Given the description of an element on the screen output the (x, y) to click on. 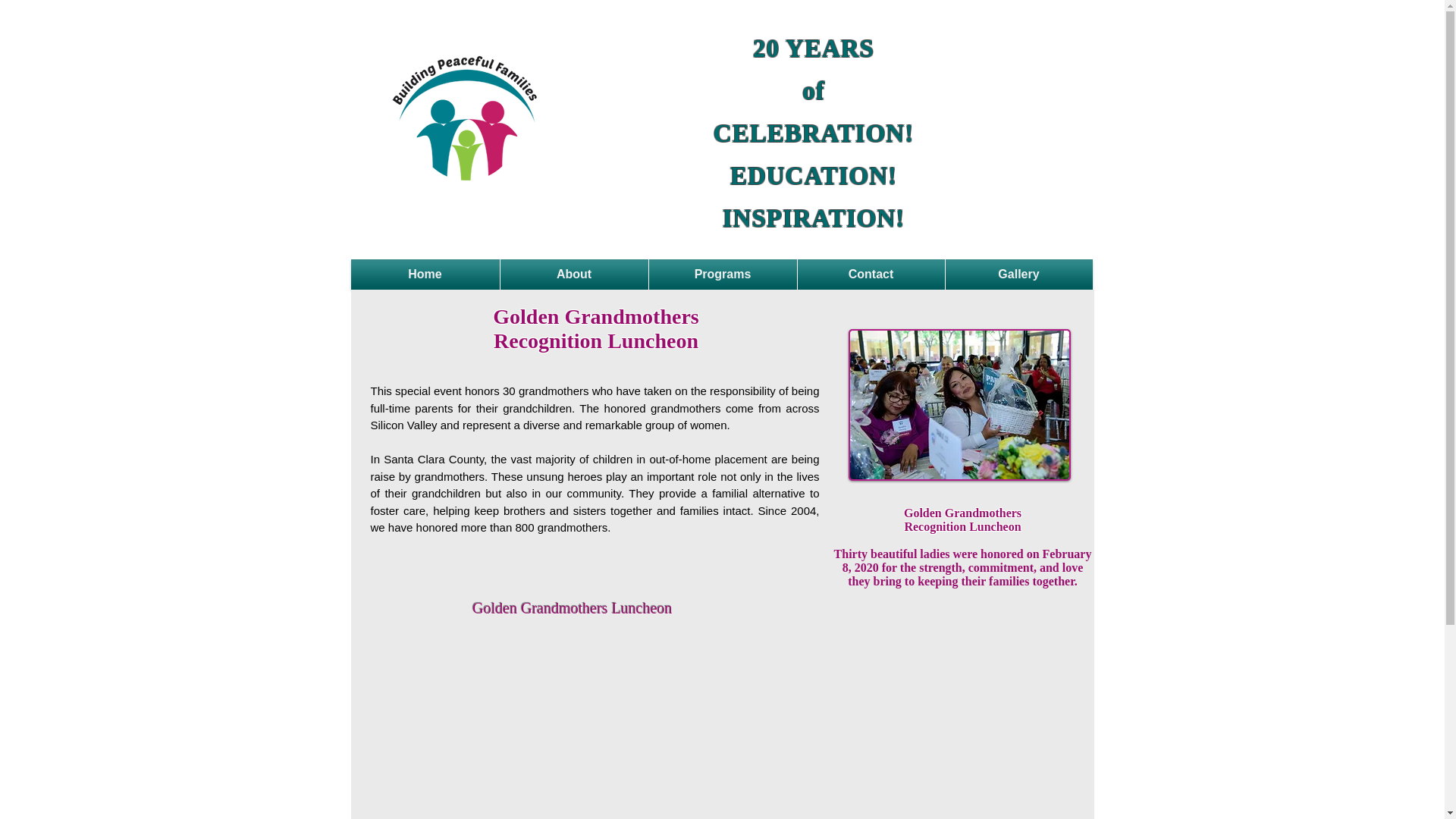
Programs (722, 274)
Gallery (1018, 274)
Home (424, 274)
Contact (870, 274)
About (573, 274)
